Given the description of an element on the screen output the (x, y) to click on. 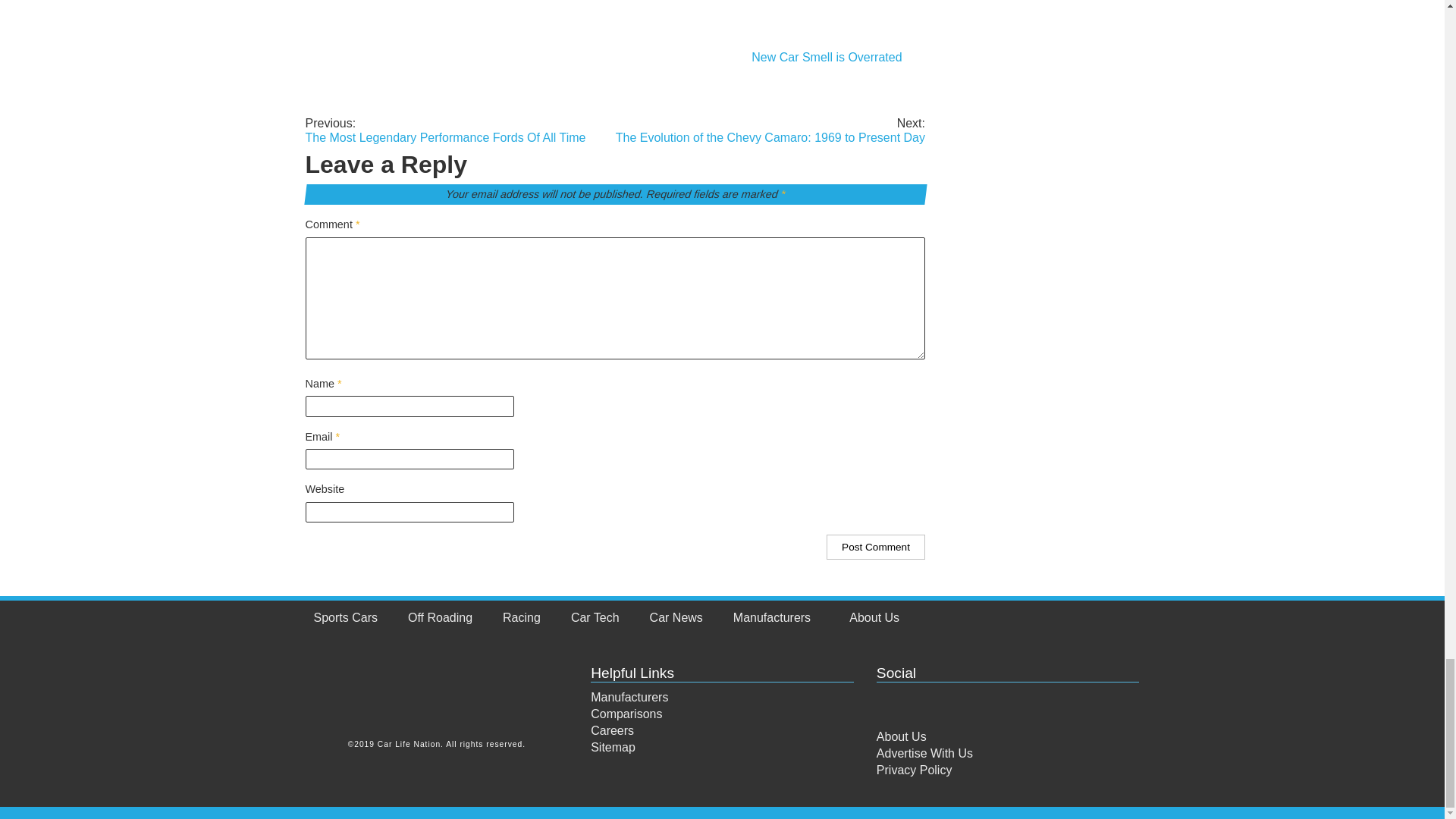
Post Comment (875, 546)
Car Life Nation Facebook (888, 702)
Car Life Nation Twitter (919, 702)
